Given the description of an element on the screen output the (x, y) to click on. 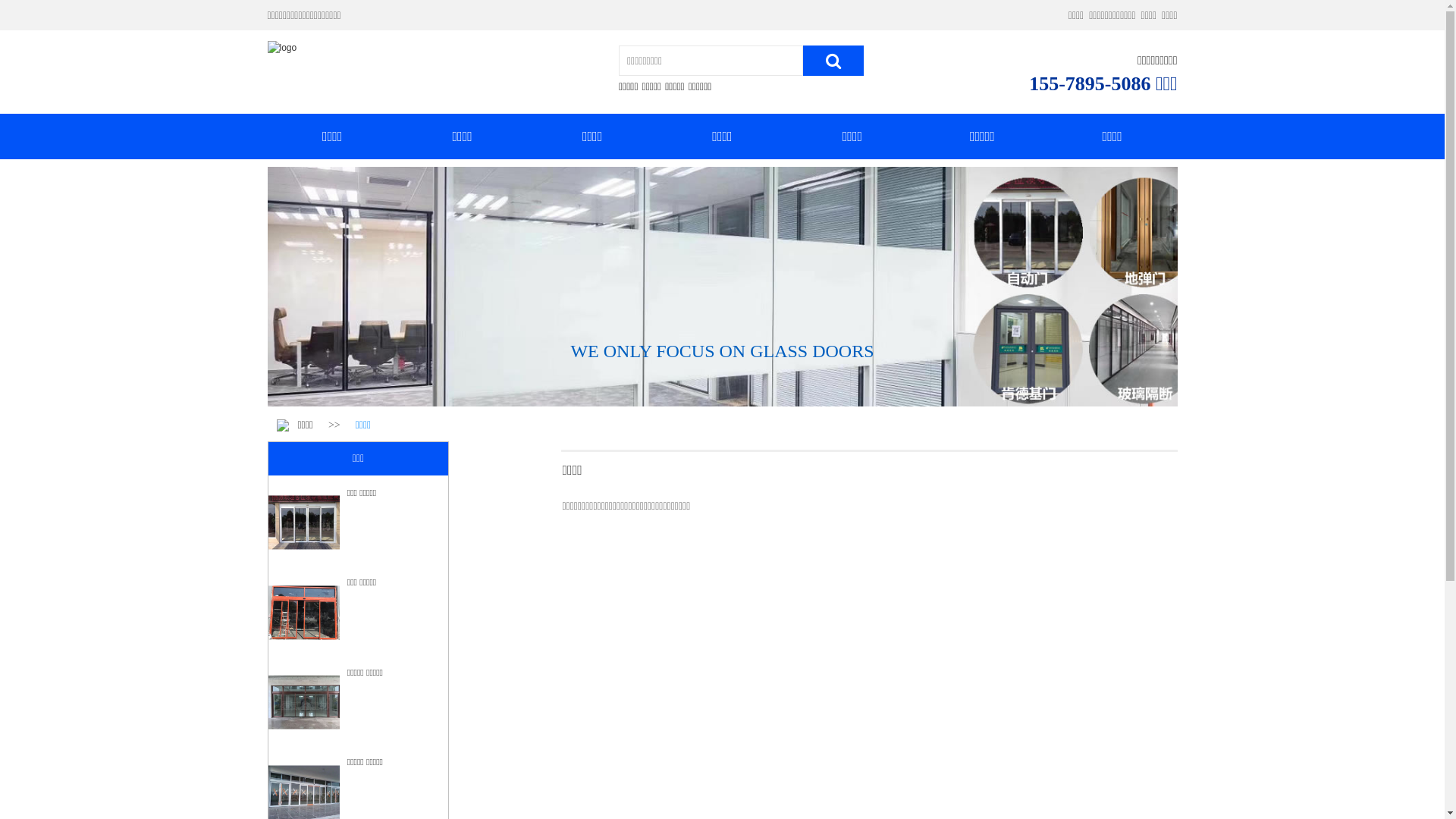
WE ONLY FOCUS ON GLASS DOORS Element type: text (721, 350)
